Given the description of an element on the screen output the (x, y) to click on. 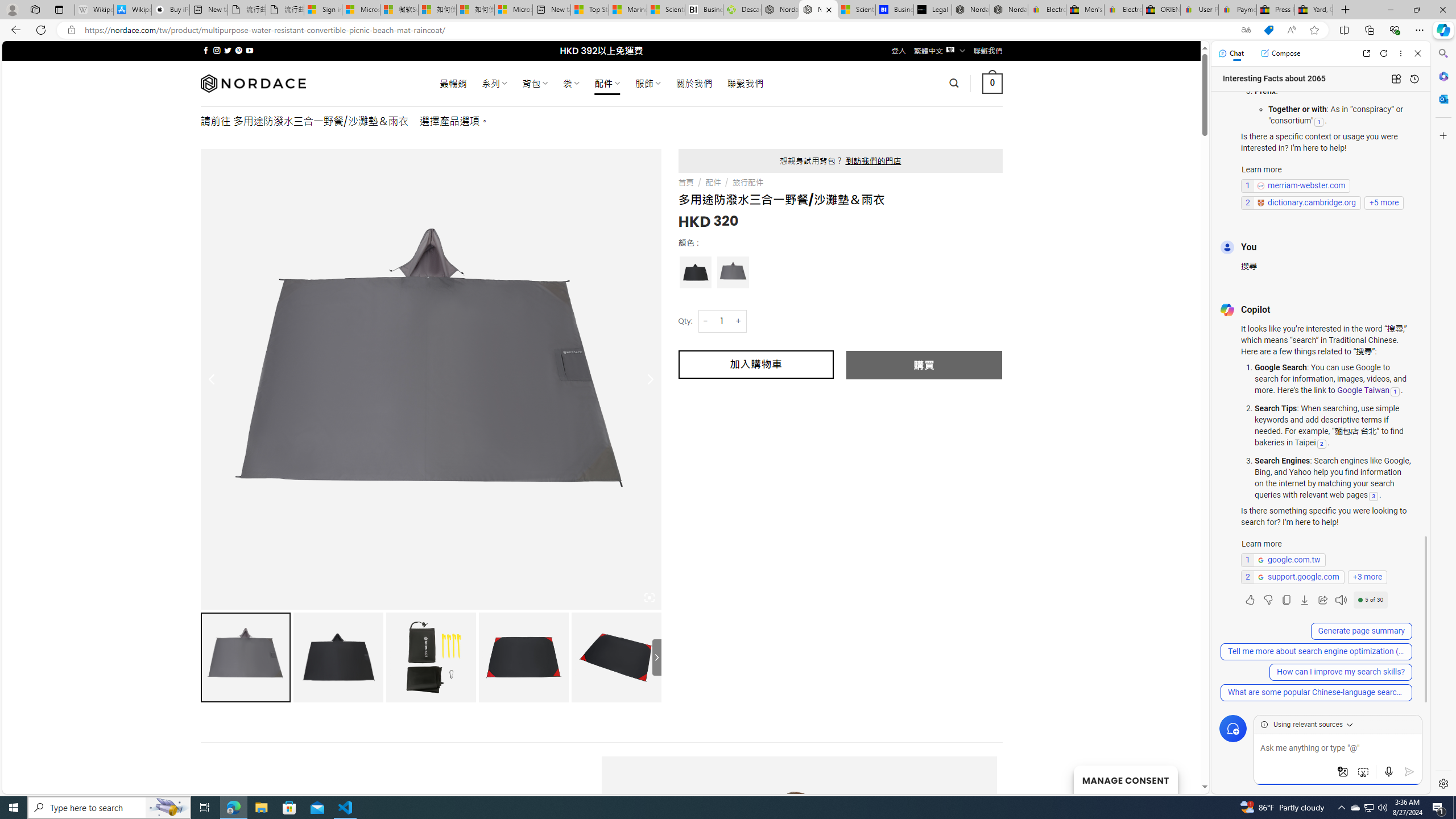
Follow on Instagram (216, 50)
Class: iconic-woothumbs-fullscreen (649, 597)
